Given the description of an element on the screen output the (x, y) to click on. 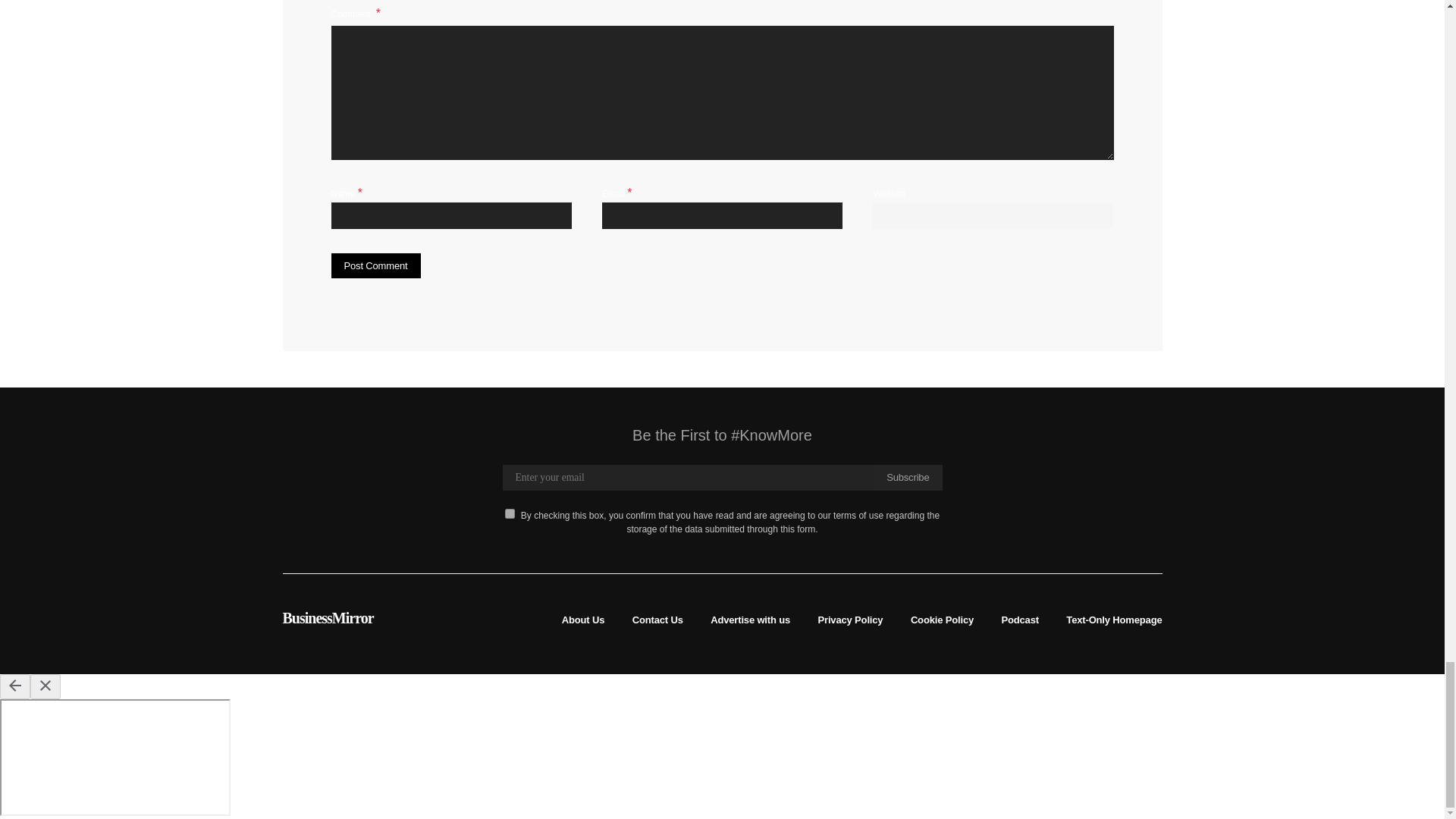
on (510, 513)
Post Comment (375, 266)
